Given the description of an element on the screen output the (x, y) to click on. 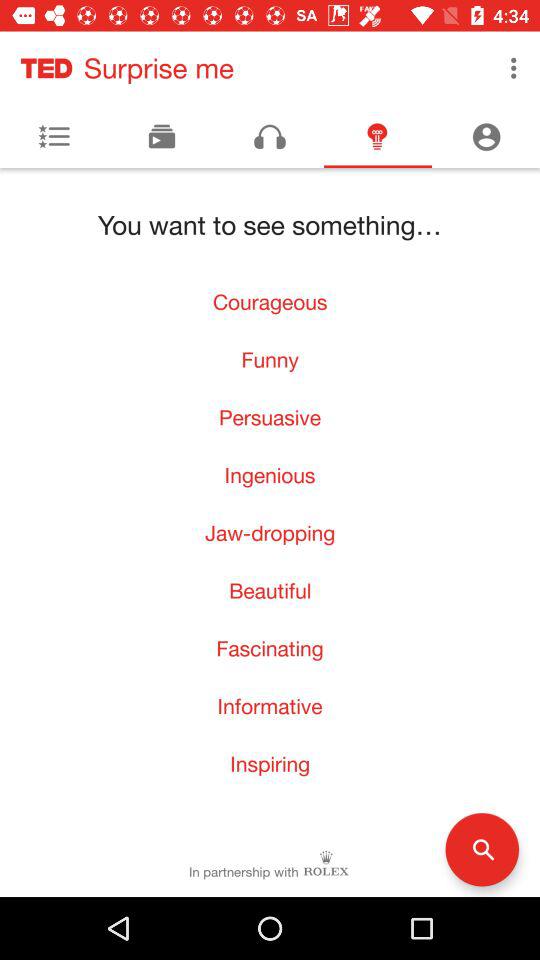
select beautiful icon (270, 590)
